Given the description of an element on the screen output the (x, y) to click on. 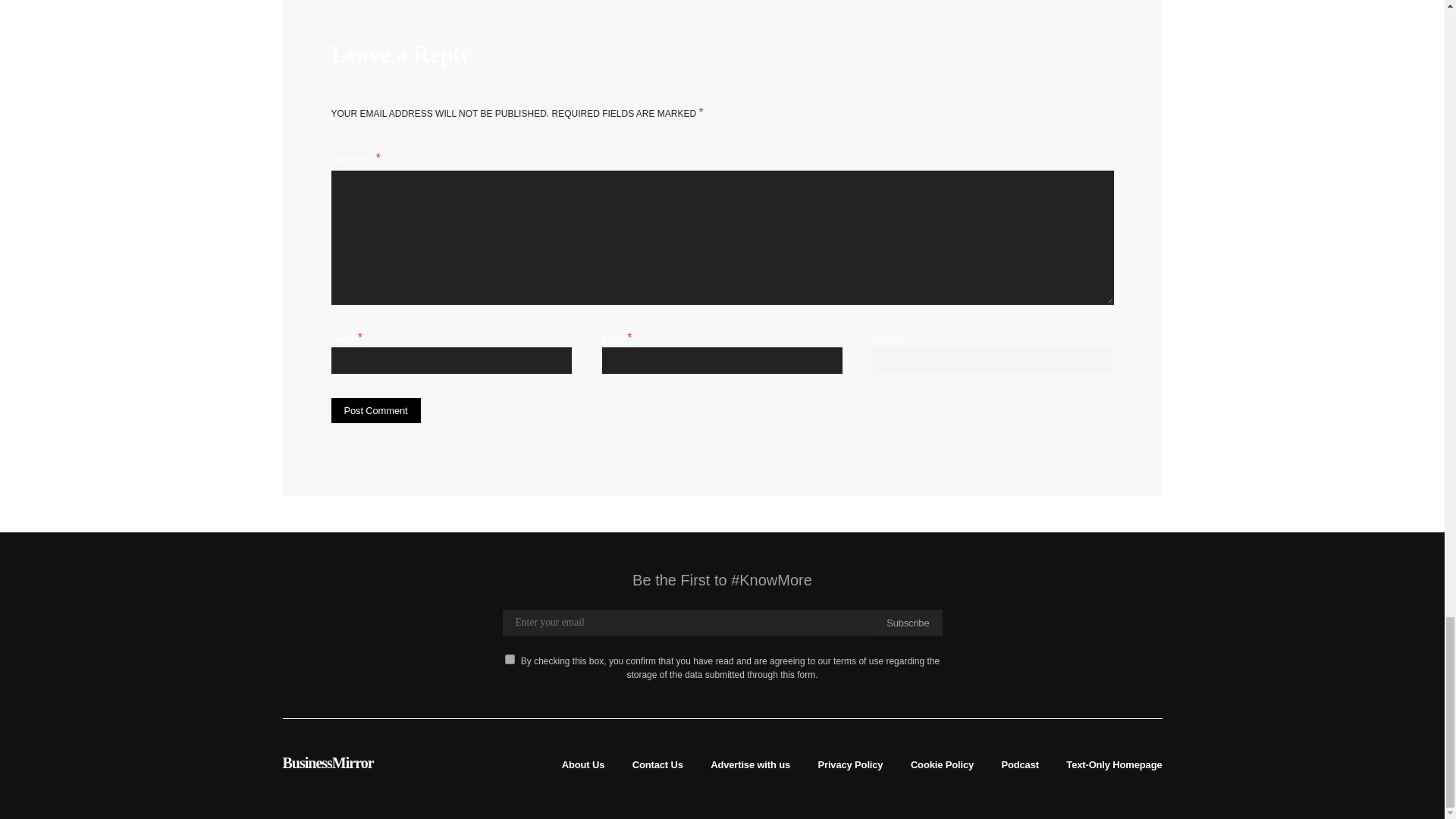
on (510, 659)
Post Comment (375, 411)
